Given the description of an element on the screen output the (x, y) to click on. 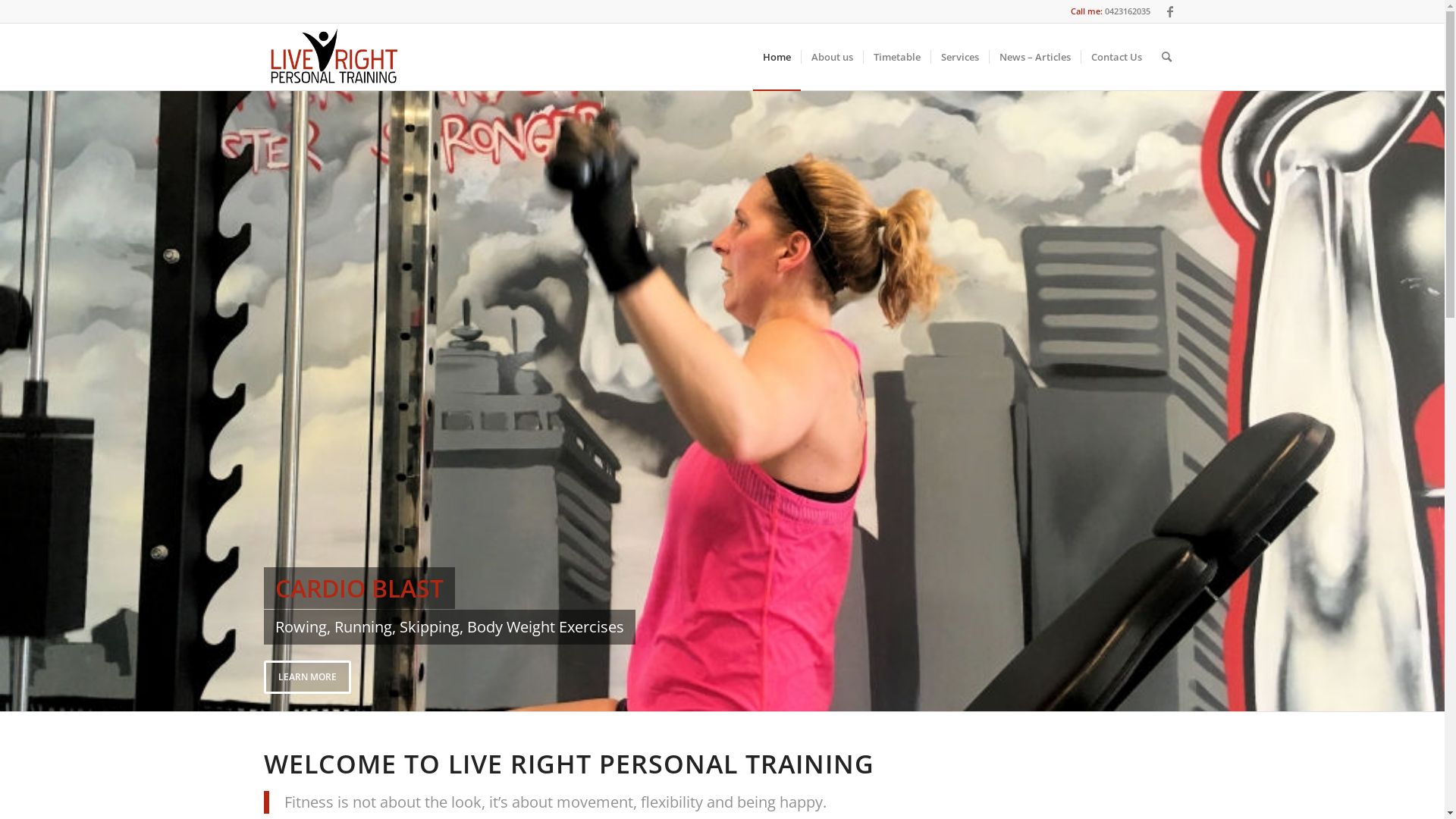
Contact Us Element type: text (1115, 56)
banner-home-02 Element type: hover (722, 400)
Home Element type: text (776, 56)
LiveRightPT-red-logo Element type: hover (333, 56)
Facebook Element type: hover (1169, 11)
0423162035 Element type: text (1126, 10)
Services Element type: text (958, 56)
Timetable Element type: text (896, 56)
About us Element type: text (831, 56)
